Given the description of an element on the screen output the (x, y) to click on. 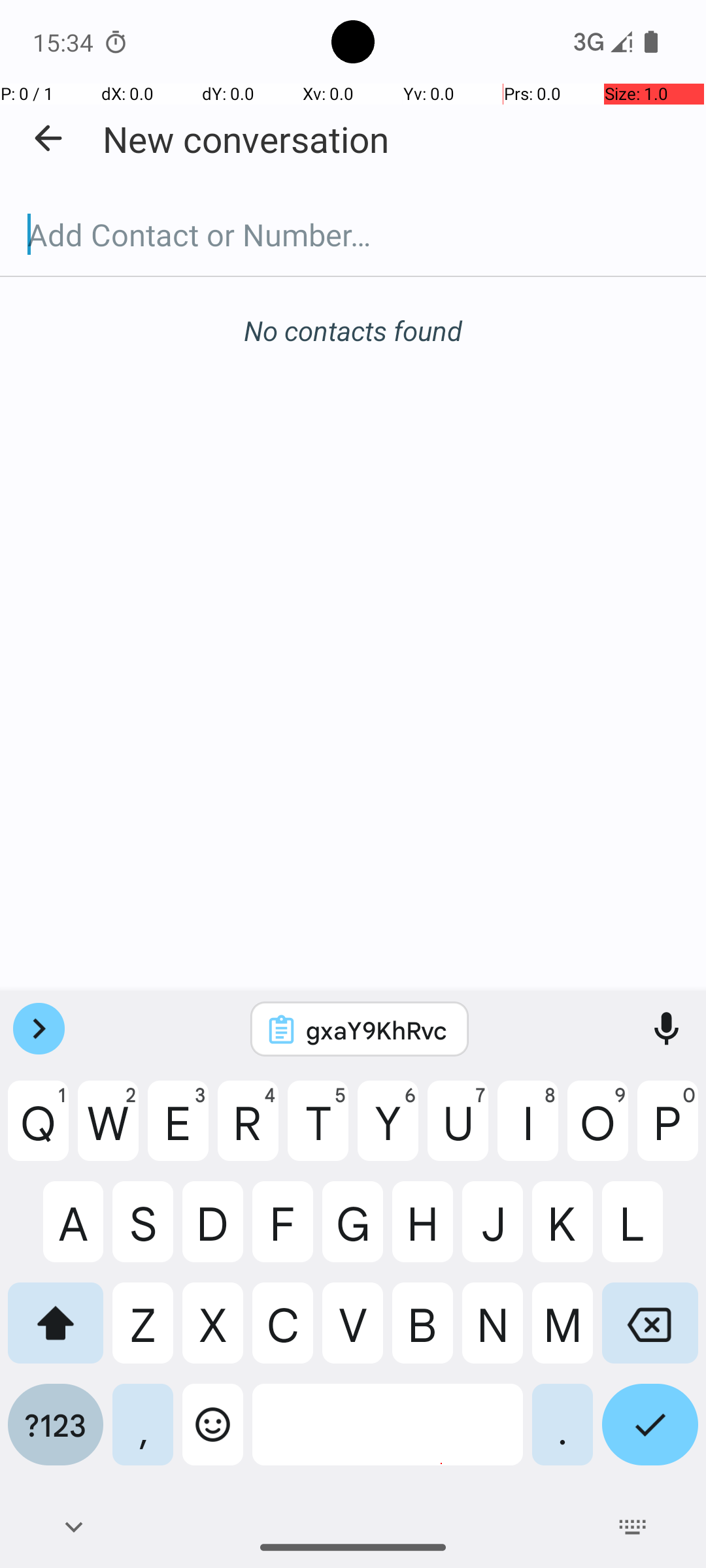
No contacts found Element type: android.widget.TextView (353, 329)
gxaY9KhRvc Element type: android.widget.TextView (376, 1029)
